Given the description of an element on the screen output the (x, y) to click on. 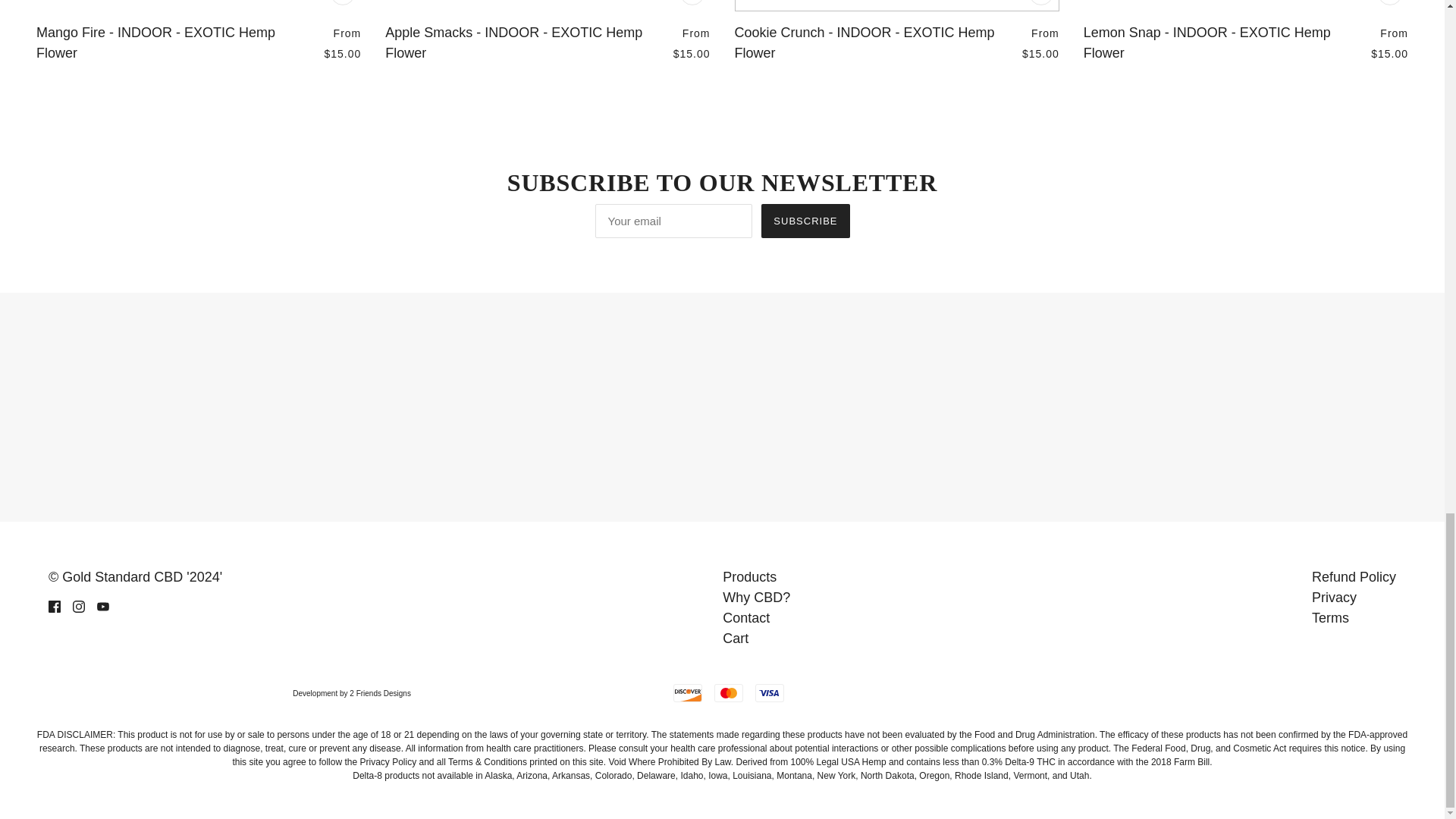
Contact (746, 616)
Discover (686, 692)
Products (749, 575)
Cart (735, 638)
Terms (1330, 616)
Refund Policy (1353, 575)
Visa (769, 692)
Why CBD? (756, 597)
Mastercard (728, 692)
Privacy (1333, 597)
Cards (721, 404)
